Given the description of an element on the screen output the (x, y) to click on. 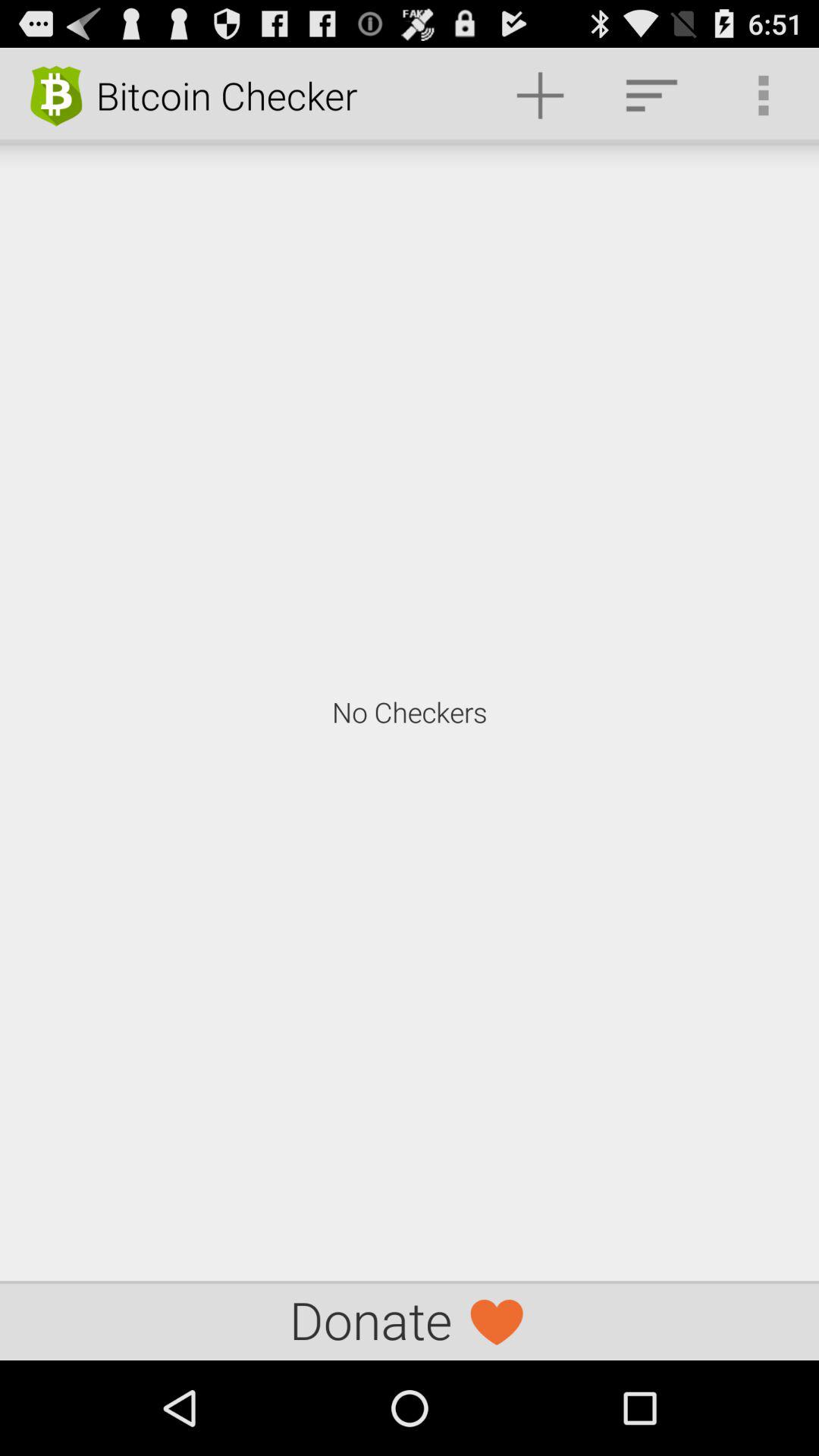
click item at the bottom (409, 1320)
